Given the description of an element on the screen output the (x, y) to click on. 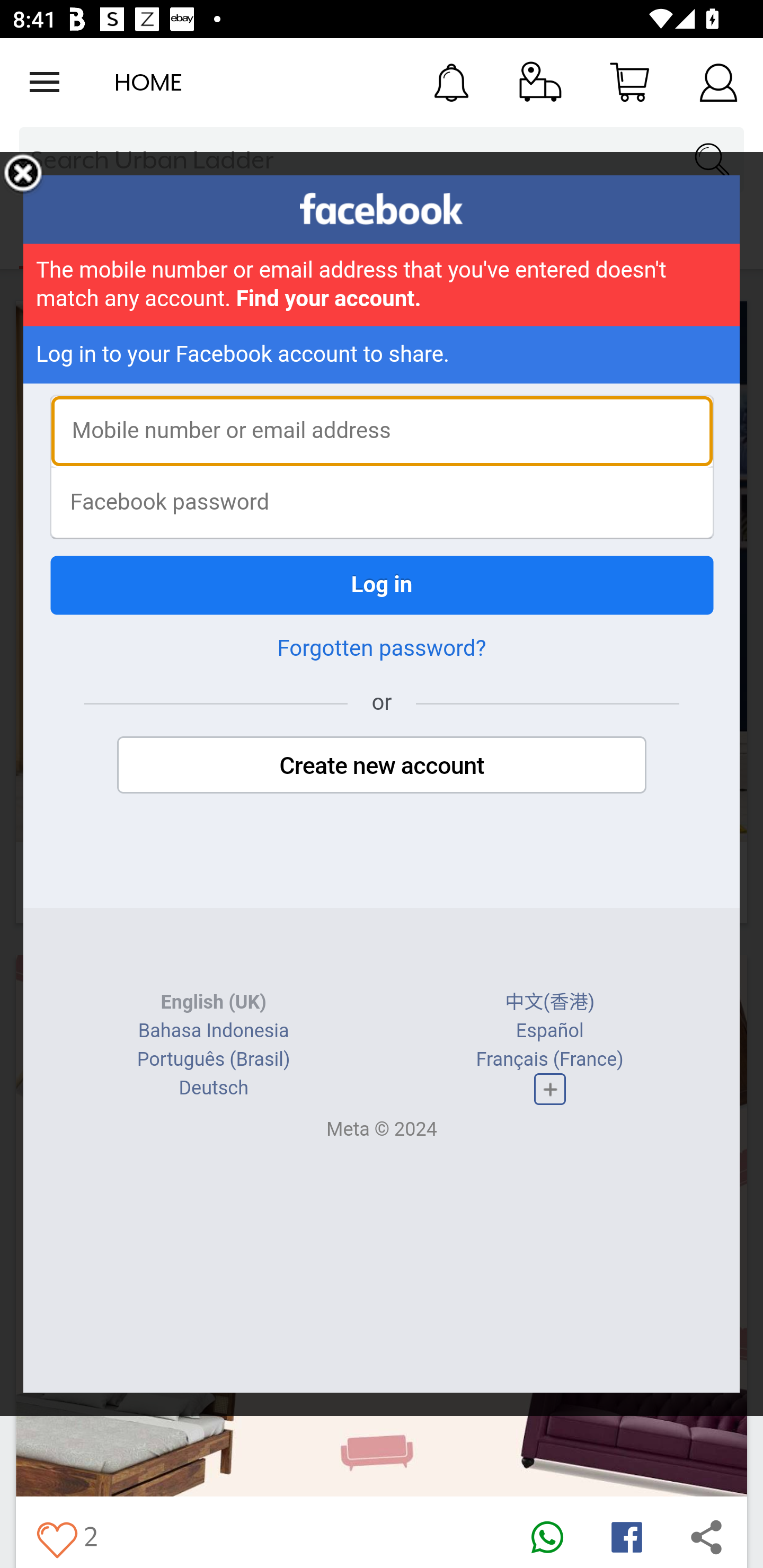
facebook (381, 208)
Find your account. (328, 298)
Log in (381, 585)
Forgotten password? (381, 648)
Create new account (381, 764)
中文(香港) (550, 1002)
Bahasa Indonesia (214, 1030)
Español (549, 1030)
Português (Brasil) (212, 1058)
Français (France) (549, 1058)
Complete list of languages (548, 1088)
Deutsch (212, 1087)
